Given the description of an element on the screen output the (x, y) to click on. 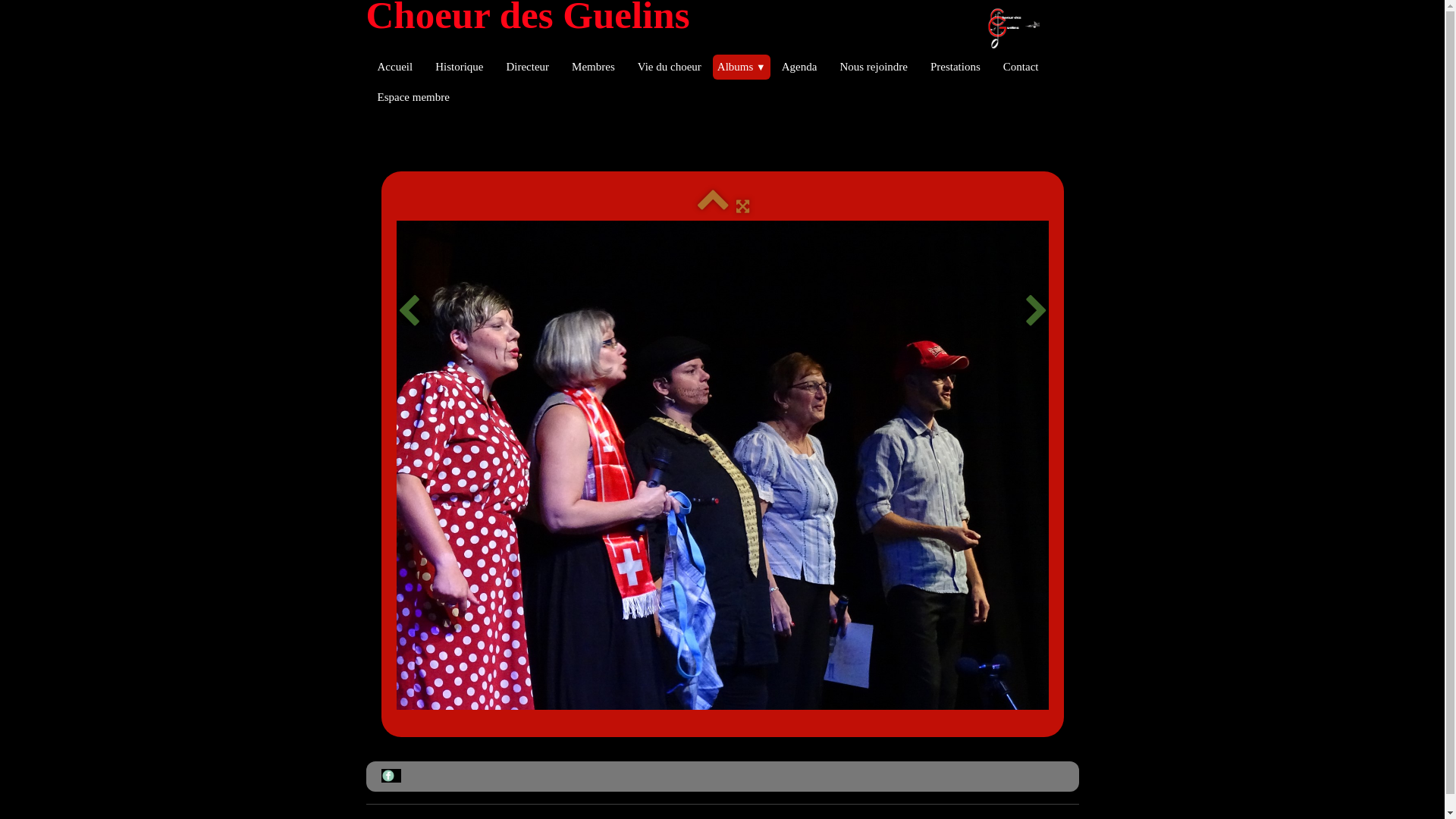
Vie du choeur Element type: text (669, 66)
Membres Element type: text (593, 66)
Nous rejoindre Element type: text (873, 66)
Espace membre Element type: text (412, 96)
Accueil Element type: text (394, 66)
Choeur des Guelins Element type: text (707, 15)
Prestations Element type: text (955, 66)
Contact Element type: text (1020, 66)
Historique Element type: text (458, 66)
Directeur Element type: text (527, 66)
Agenda Element type: text (799, 66)
Index Element type: hover (713, 206)
Suivant Element type: hover (1035, 311)
